Given the description of an element on the screen output the (x, y) to click on. 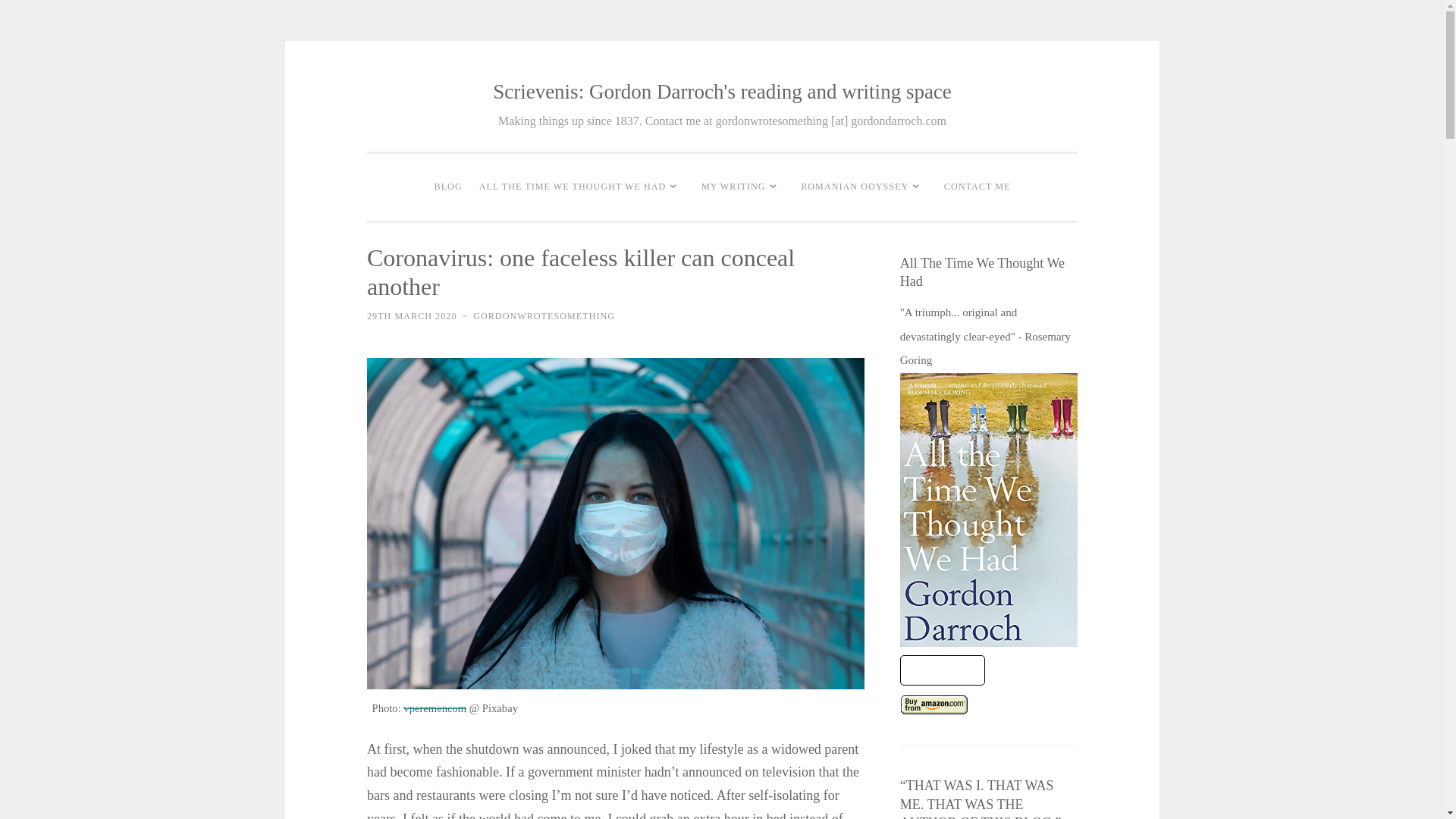
vperemencom (434, 707)
Buy from Amazon.com (933, 704)
ROMANIAN ODYSSEY (863, 186)
GORDONWROTESOMETHING (543, 316)
ALL THE TIME WE THOUGHT WE HAD (581, 186)
29TH MARCH 2020 (411, 316)
Scrievenis: Gordon Darroch's reading and writing space (722, 91)
BLOG (448, 186)
CONTACT ME (977, 186)
